Given the description of an element on the screen output the (x, y) to click on. 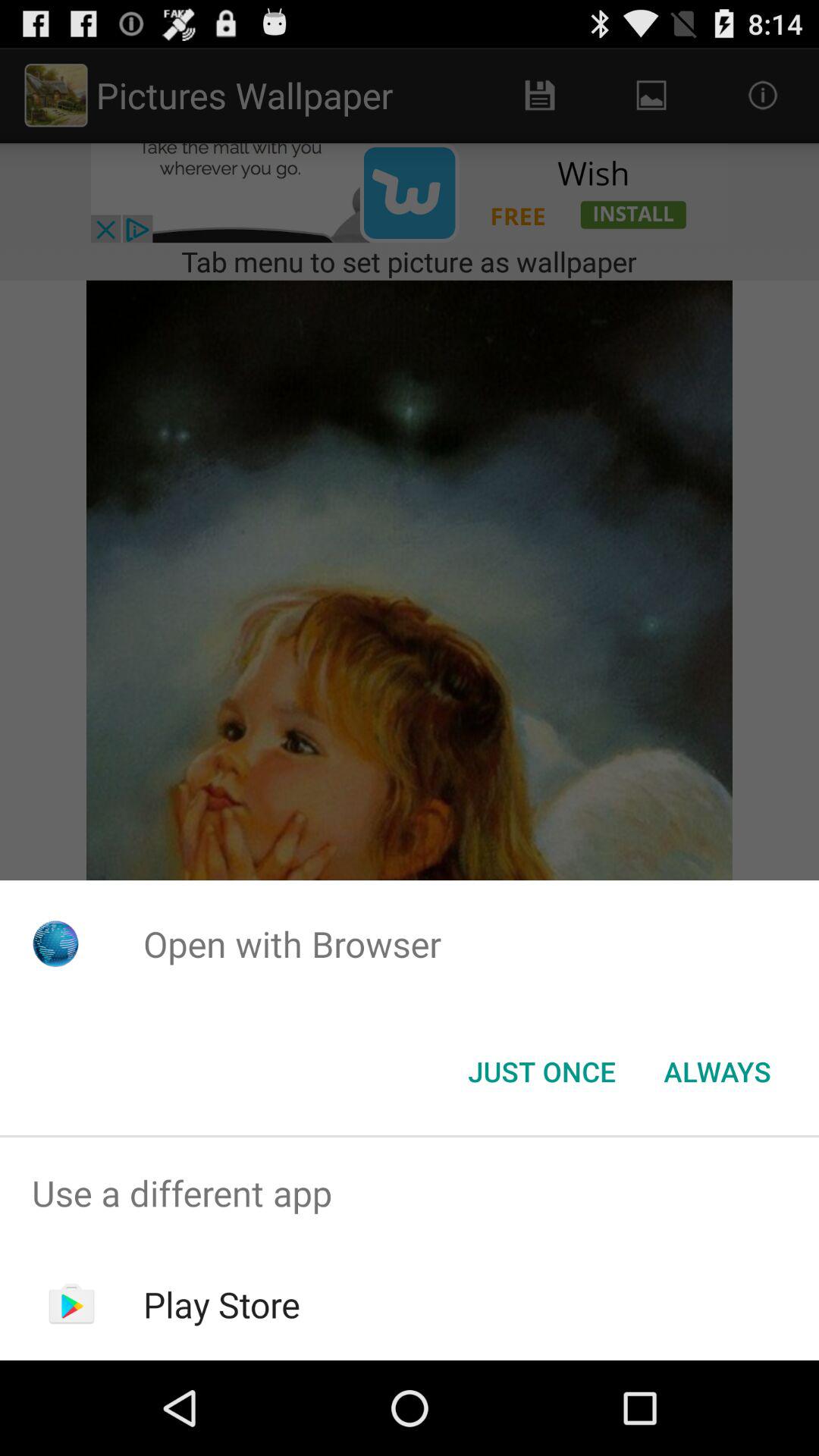
select item below open with browser (717, 1071)
